Given the description of an element on the screen output the (x, y) to click on. 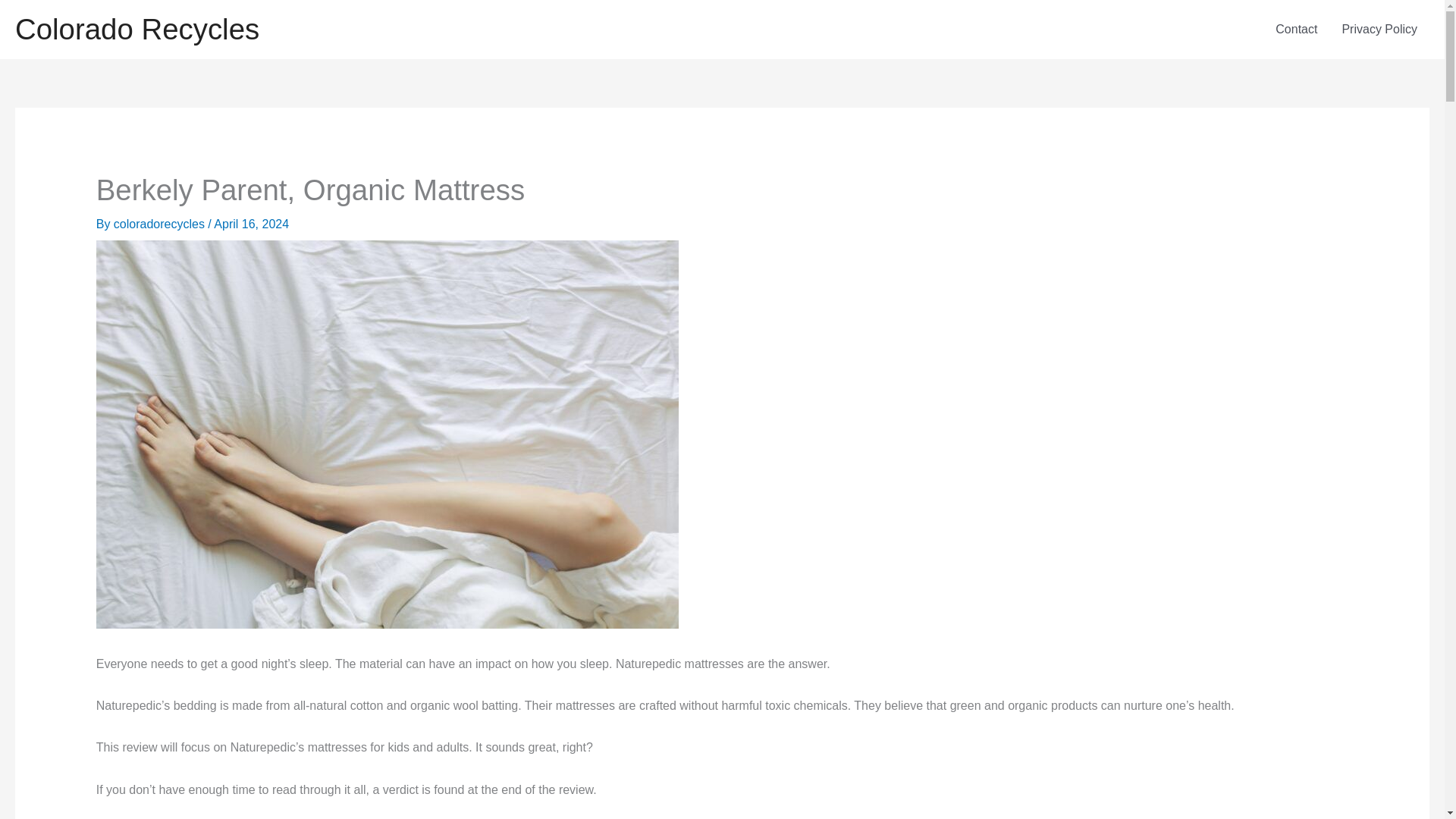
Colorado Recycles (136, 29)
Privacy Policy (1379, 29)
View all posts by coloradorecycles (160, 223)
Contact (1296, 29)
coloradorecycles (160, 223)
